Given the description of an element on the screen output the (x, y) to click on. 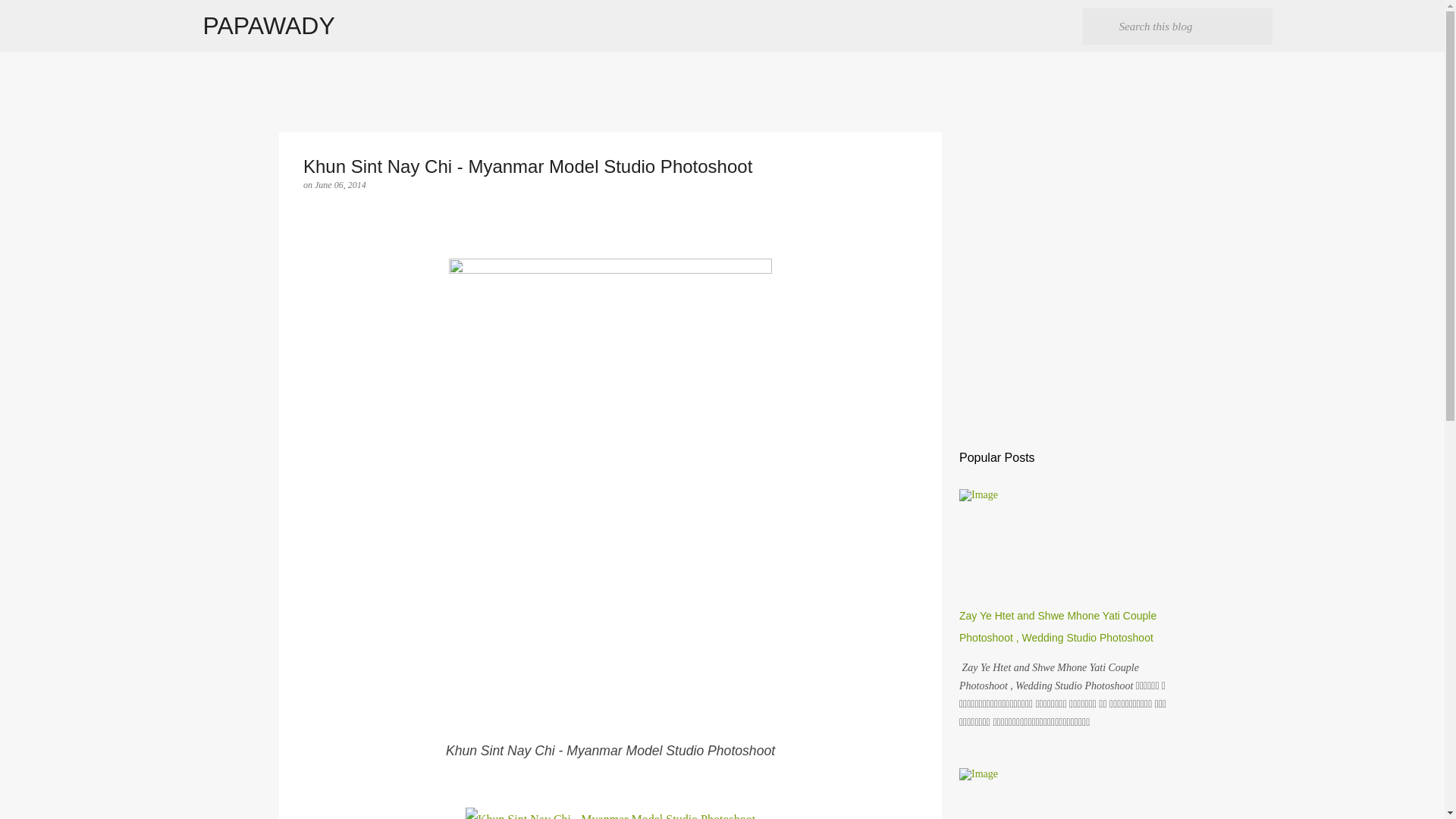
PAPAWADY (268, 25)
Khun Sint Nay Chi - Myanmar Model Studio Photoshoot (610, 813)
permanent link (340, 184)
June 06, 2014 (340, 184)
